Given the description of an element on the screen output the (x, y) to click on. 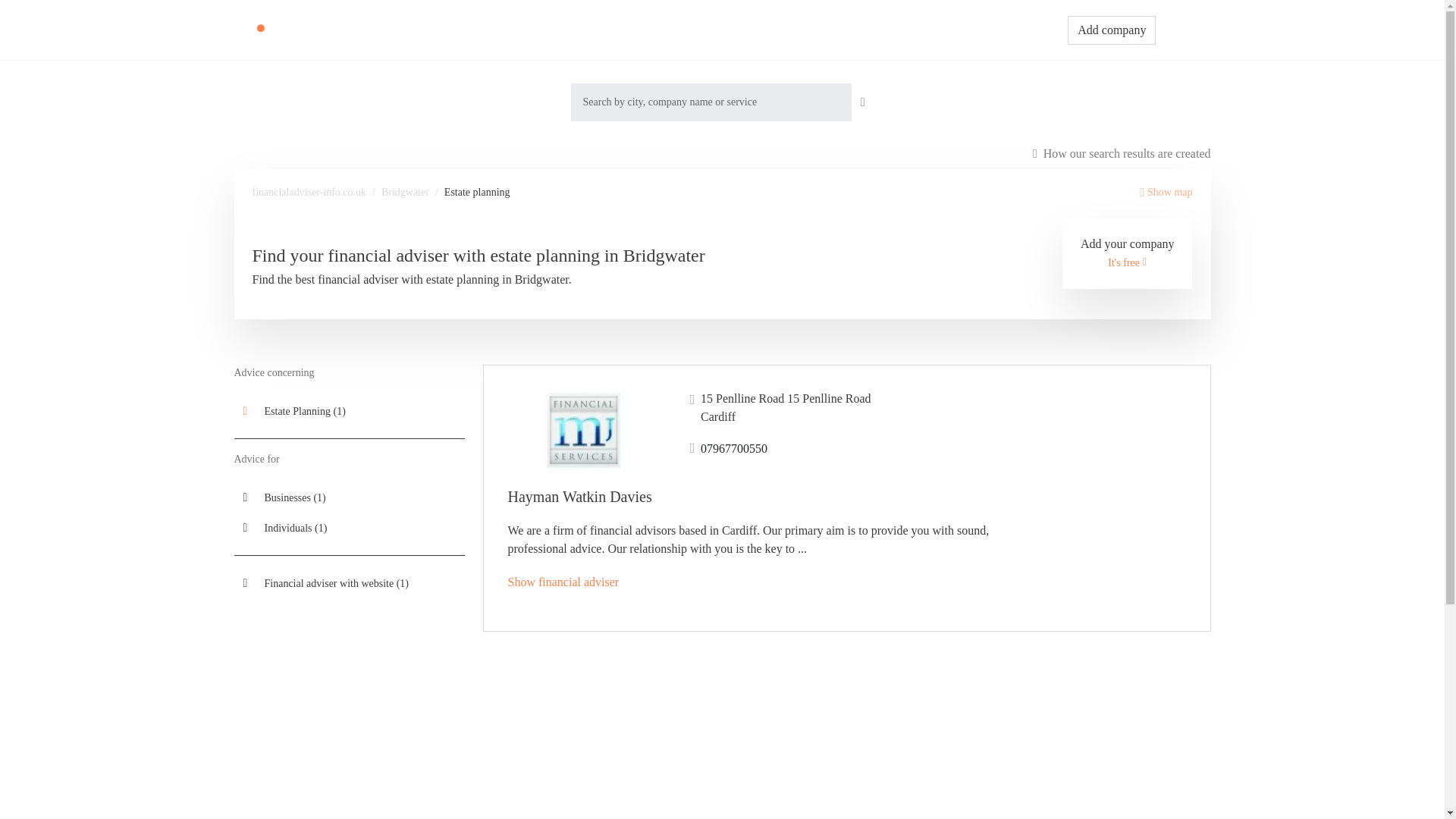
Add company (1111, 29)
Find financial adviser (740, 29)
